Given the description of an element on the screen output the (x, y) to click on. 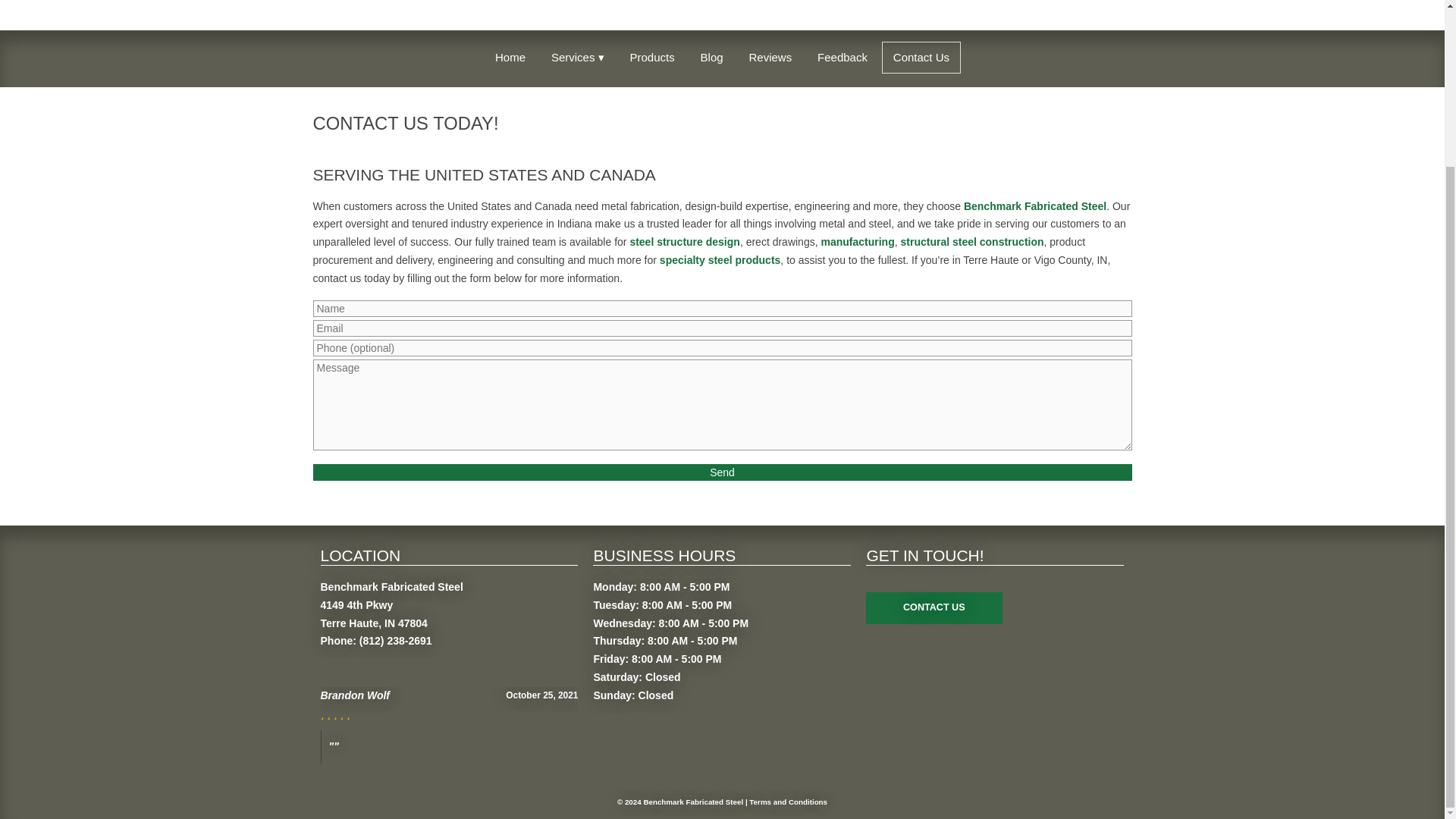
manufacturing (857, 241)
specialty steel products (719, 259)
Benchmark Fabricated Steel (1034, 205)
Feedback (842, 57)
Home (510, 57)
steel structure design (683, 241)
structural steel construction (972, 241)
CONTACT US (934, 608)
Reviews (769, 57)
Terms and Conditions (788, 801)
